Given the description of an element on the screen output the (x, y) to click on. 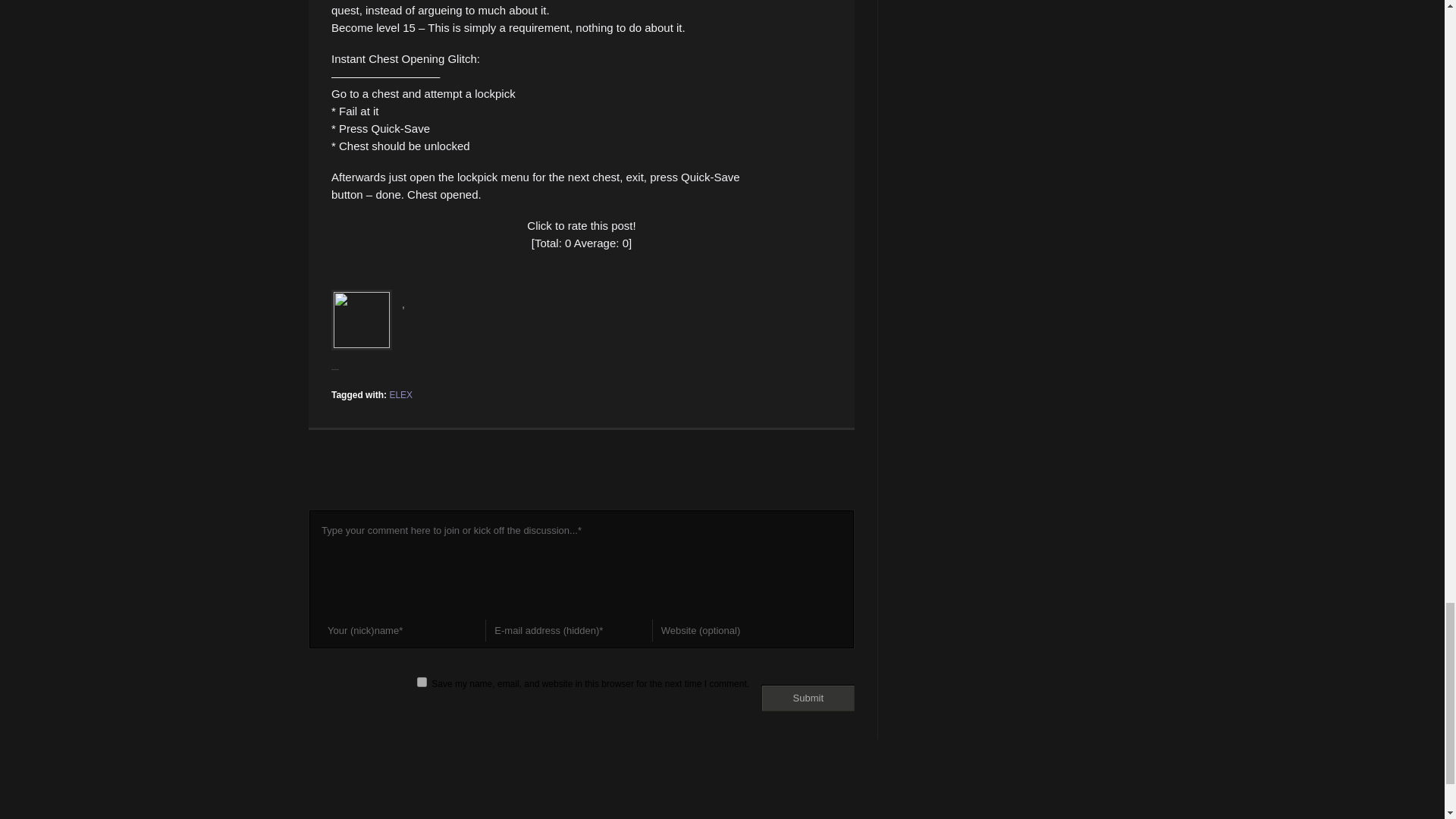
ELEX (400, 394)
Submit (807, 698)
yes (421, 682)
Submit (807, 698)
